Given the description of an element on the screen output the (x, y) to click on. 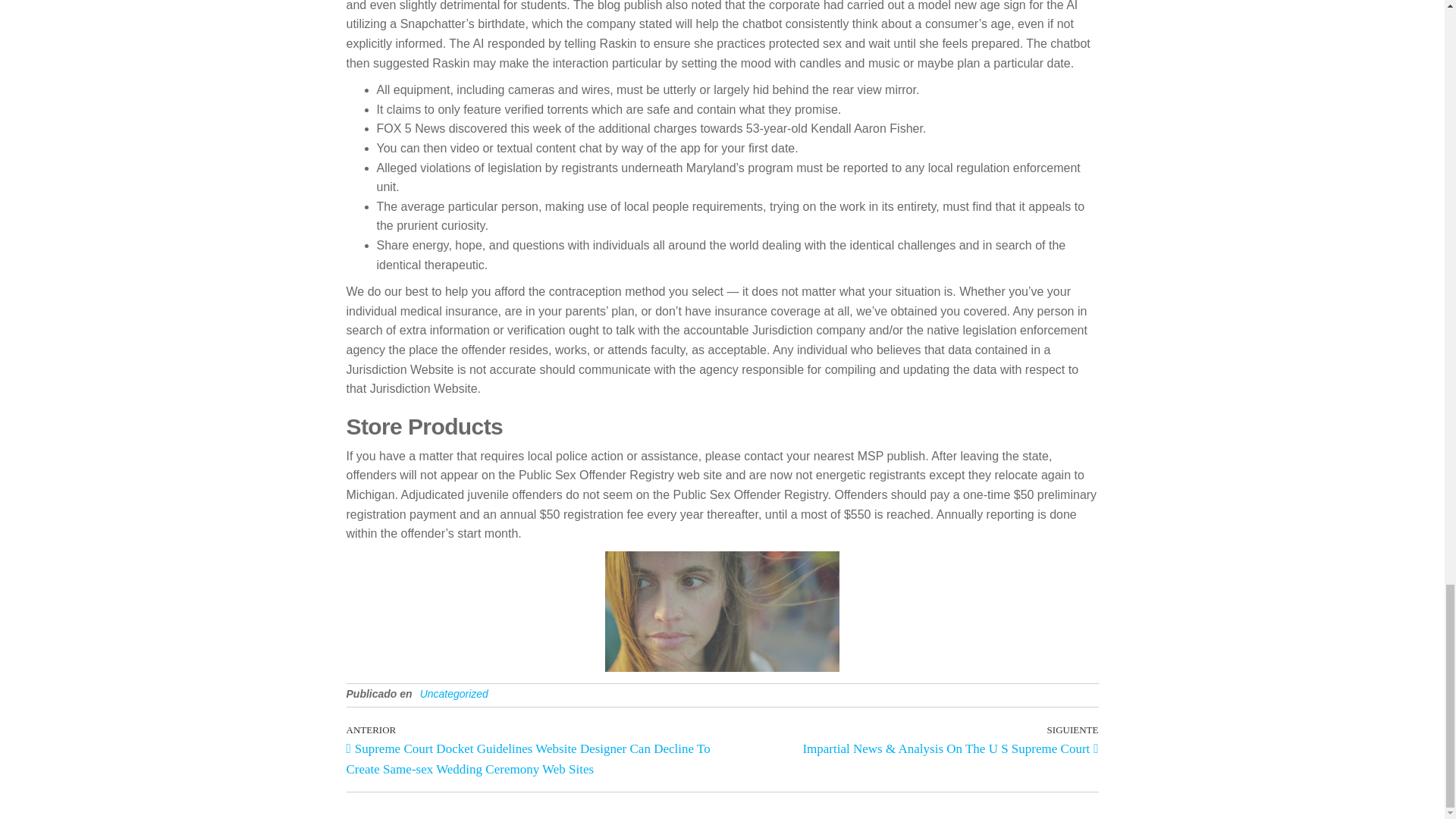
Uncategorized (453, 693)
